Given the description of an element on the screen output the (x, y) to click on. 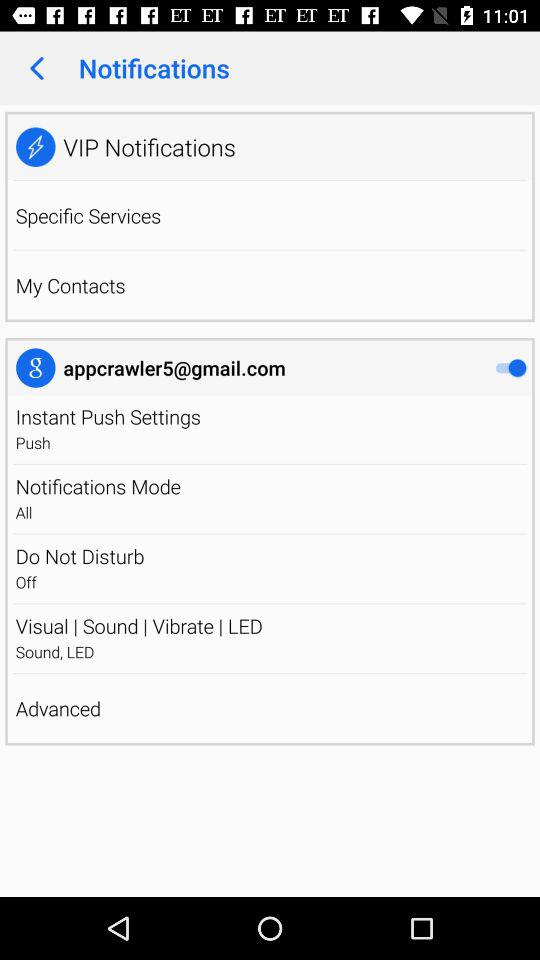
open item above push app (107, 416)
